Given the description of an element on the screen output the (x, y) to click on. 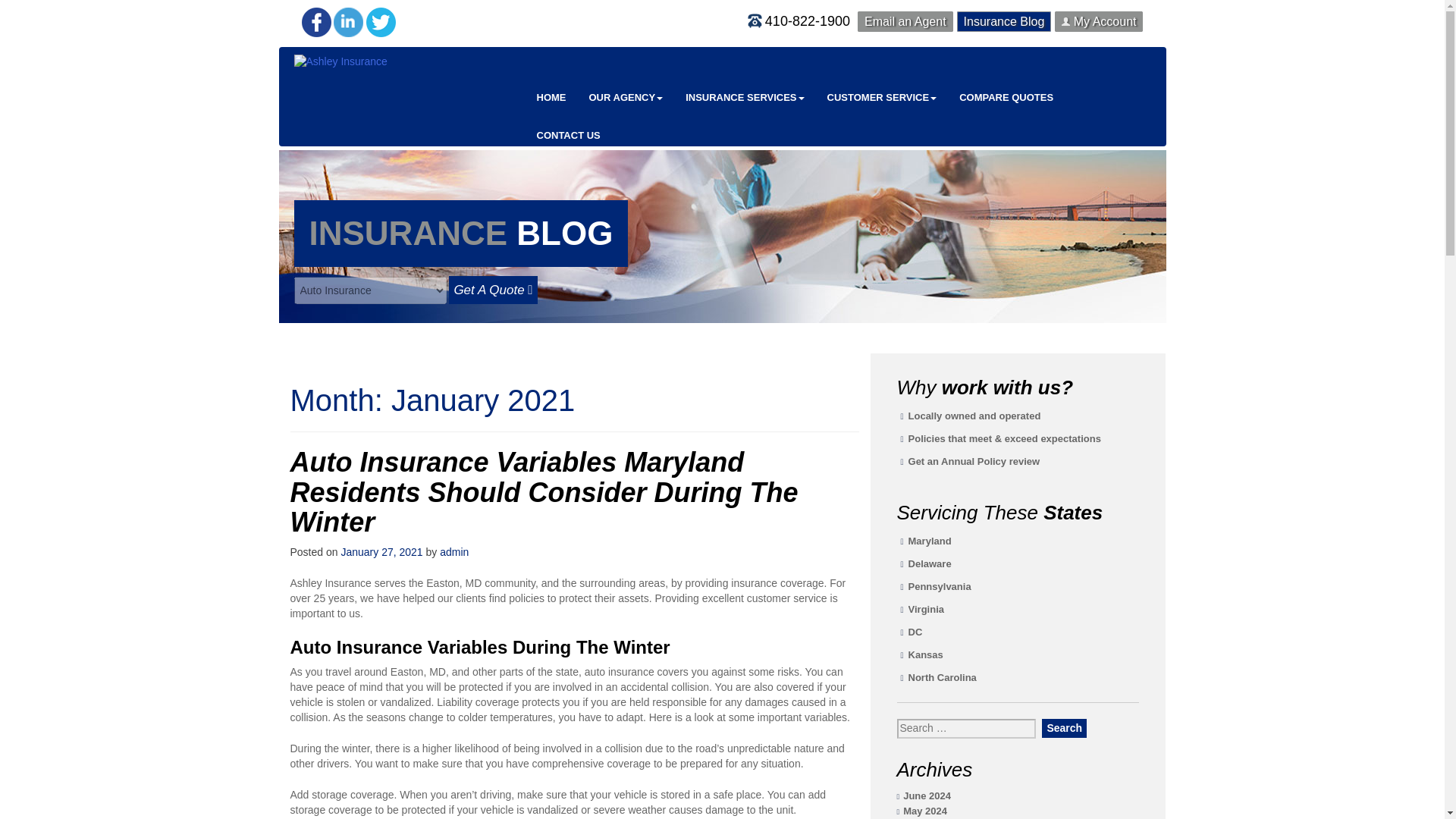
Search (1064, 728)
Email an Agent (905, 21)
OUR AGENCY (625, 97)
Insurance Blog (1003, 21)
Like Ashley Insurance on Facebook (316, 38)
INSURANCE SERVICES (744, 97)
Email an Agent (905, 21)
Maryland Insurance Blog (1003, 21)
Our Agency (625, 97)
Follow Ashley Insurance on Twitter (381, 38)
My Account (1098, 21)
Easton Insurance Agents (550, 97)
HOME (550, 97)
CONTACT US (567, 135)
Search (1064, 728)
